Given the description of an element on the screen output the (x, y) to click on. 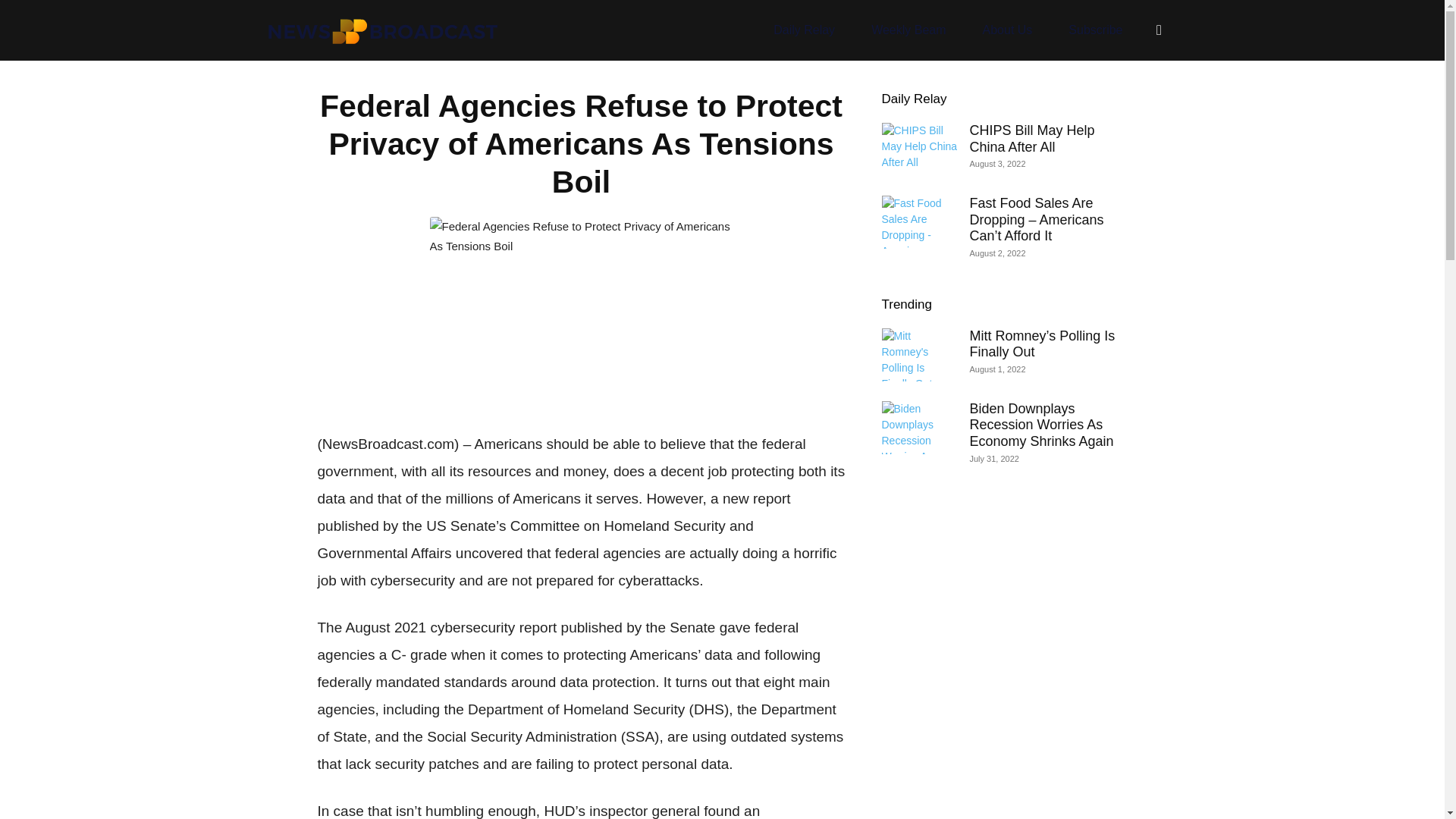
CHIPS Bill May Help China After All (1031, 138)
Weekly Beam (908, 30)
News Broadcast (381, 30)
Subscribe (1094, 30)
Search (1126, 102)
Daily Relay (804, 30)
About Us (1007, 30)
Daily Relay (913, 98)
